Given the description of an element on the screen output the (x, y) to click on. 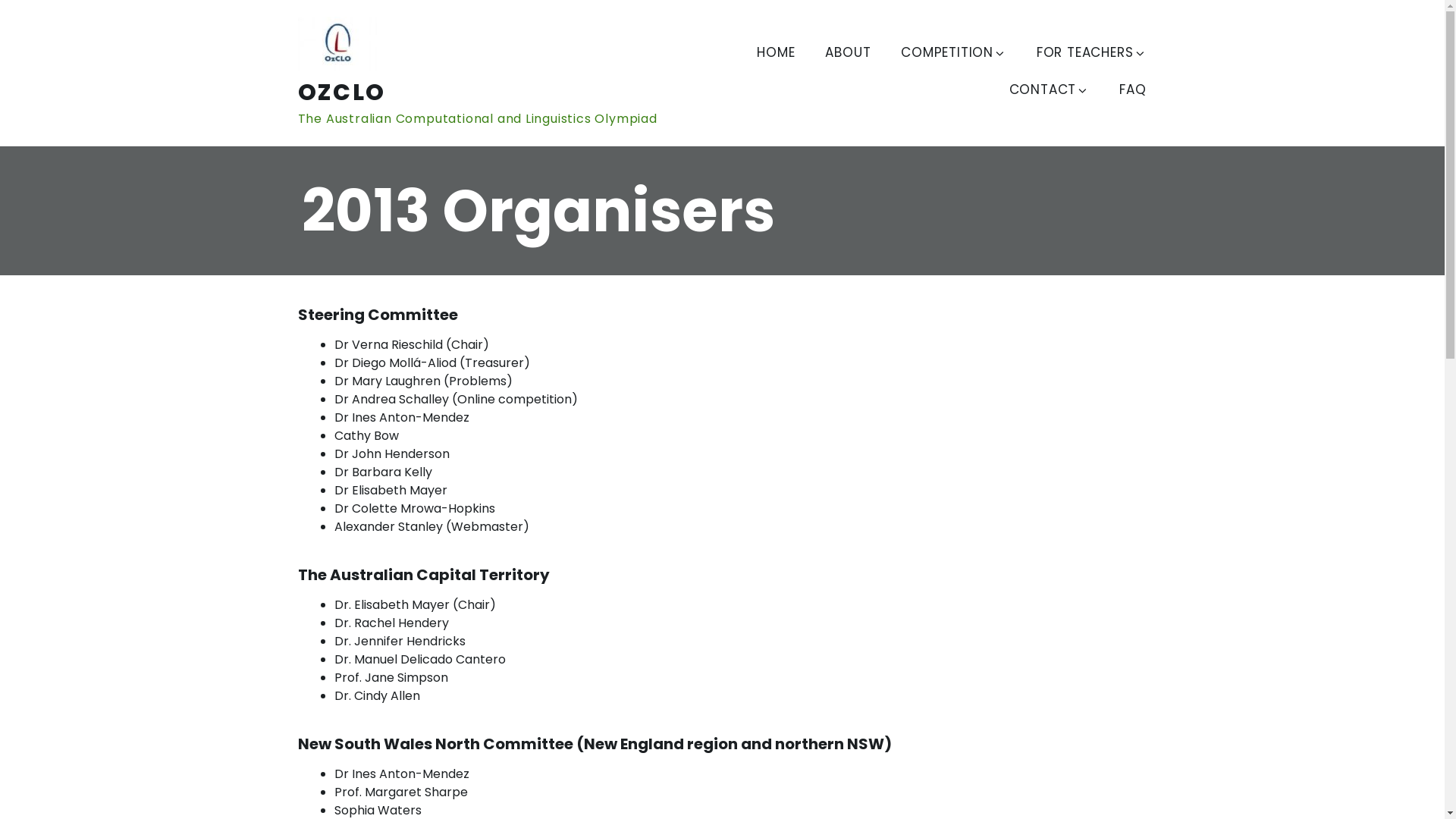
COMPETITION Element type: text (953, 54)
ABOUT Element type: text (847, 54)
CONTACT Element type: text (1049, 91)
HOME Element type: text (775, 54)
FOR TEACHERS Element type: text (1091, 54)
FAQ Element type: text (1132, 91)
OZCLO Element type: text (341, 92)
